Given the description of an element on the screen output the (x, y) to click on. 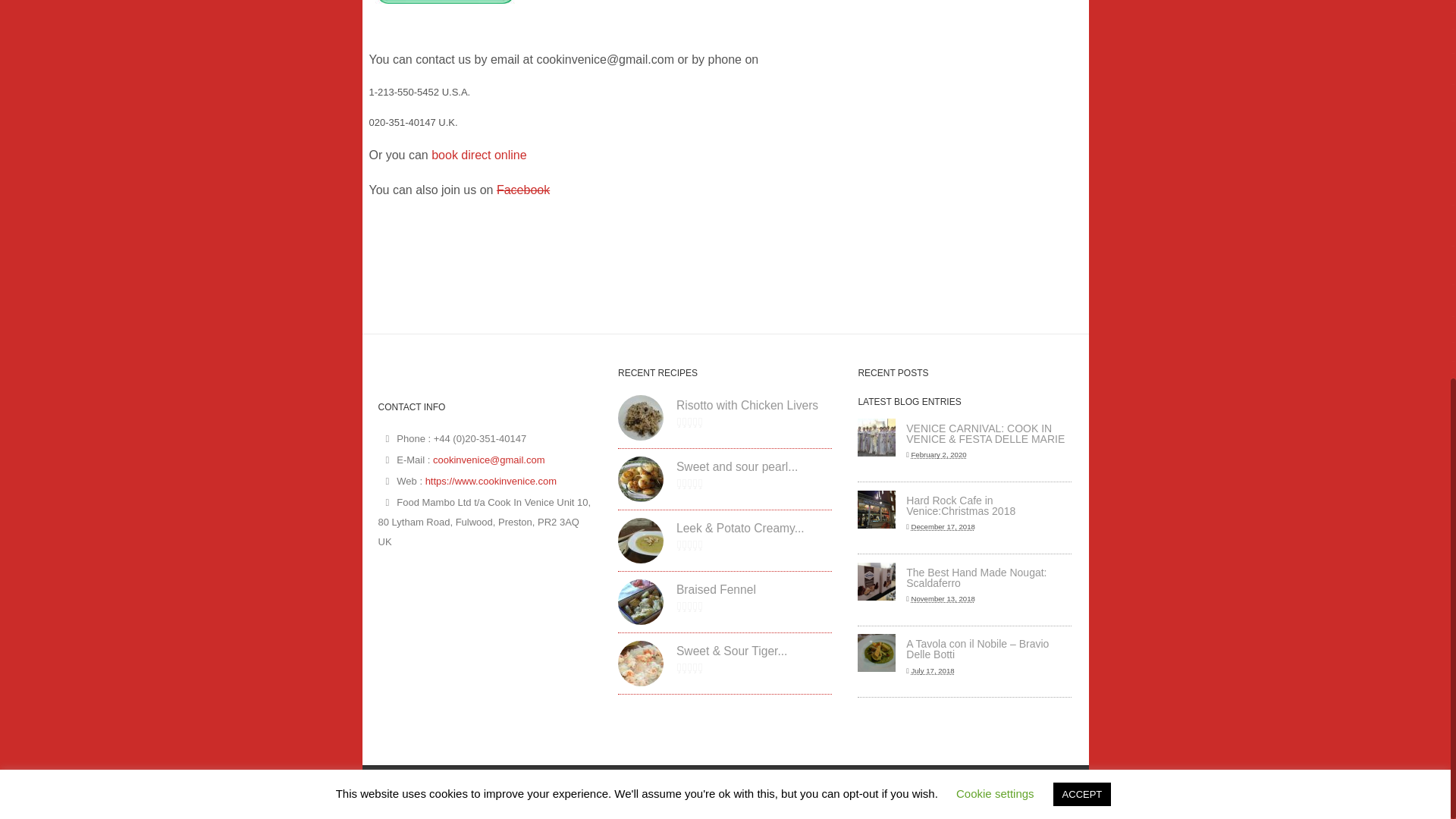
Cooking Class in Venice booking (477, 154)
